Given the description of an element on the screen output the (x, y) to click on. 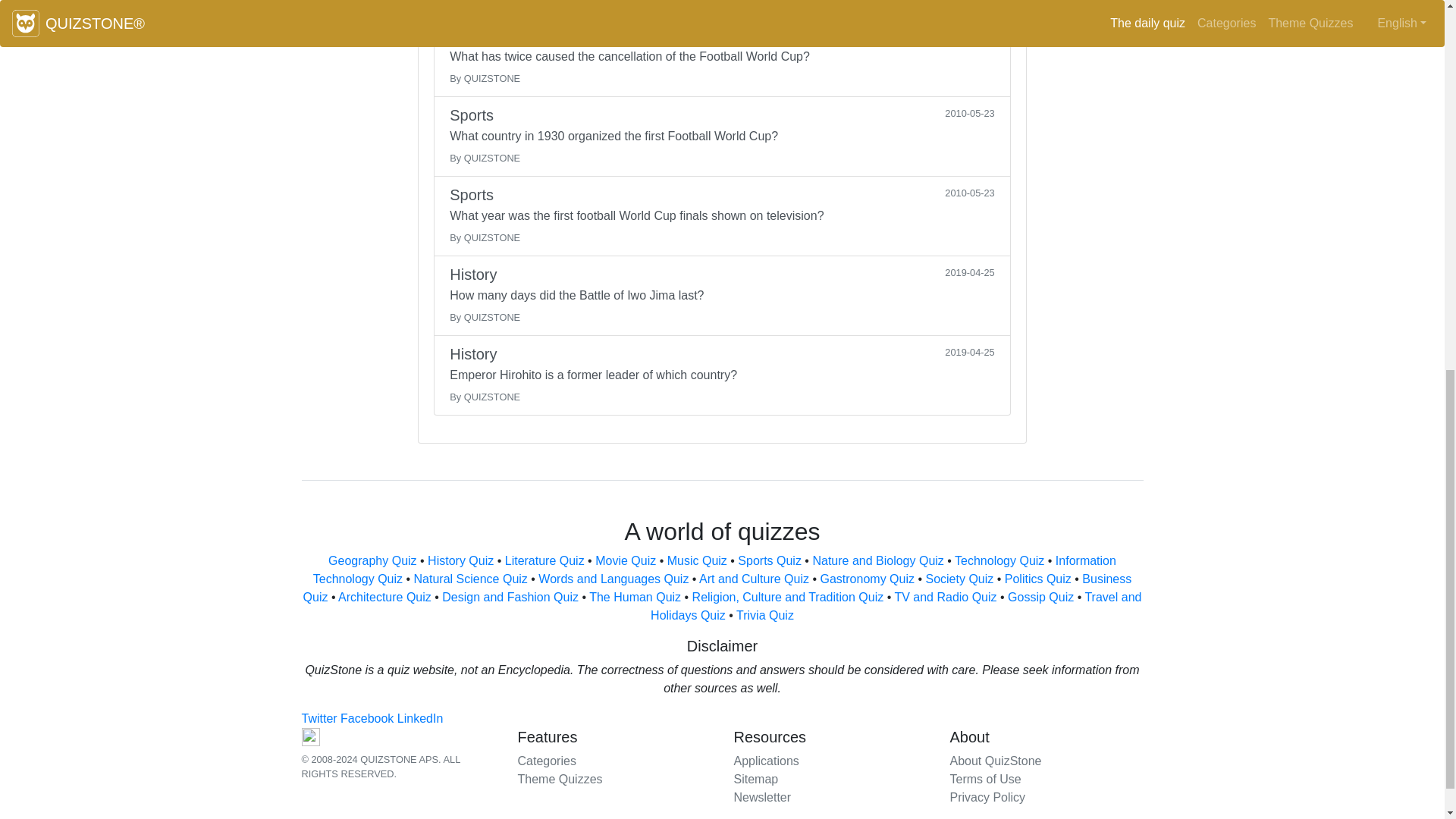
Gastronomy Quiz (866, 578)
Sports Quiz (770, 560)
Business Quiz (717, 587)
Geography Quiz (372, 560)
Nature and Biology Quiz (877, 560)
History Quiz (460, 560)
Politics Quiz (1037, 578)
Art and Culture Quiz (753, 578)
Geography Quiz (372, 560)
Literature Quiz (545, 560)
Technology Quiz (999, 560)
Gastronomy Quiz (866, 578)
Technology Quiz (999, 560)
